Given the description of an element on the screen output the (x, y) to click on. 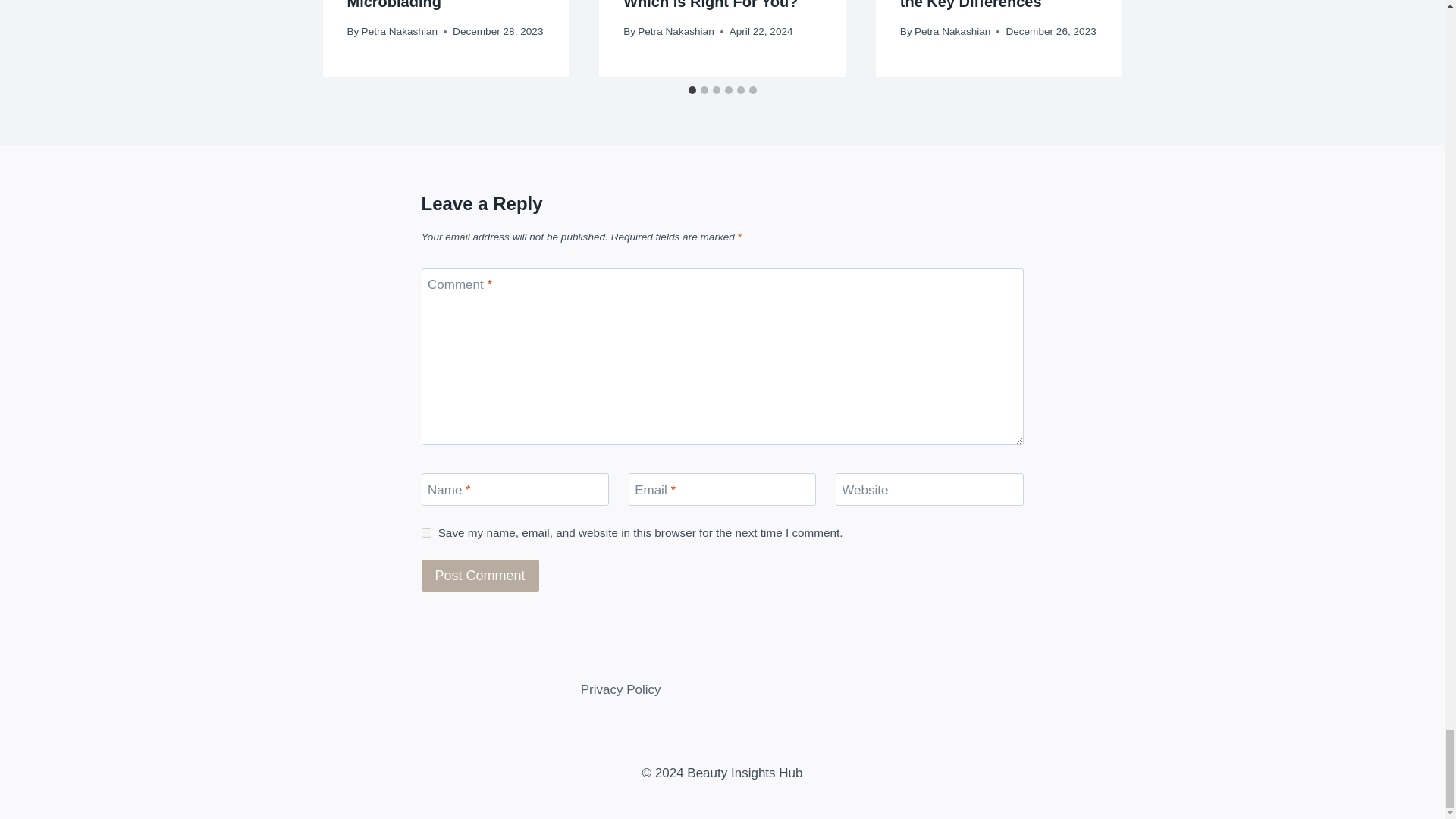
A Closer Look at Combination Brows vs Microblading (429, 4)
Petra Nakashian (399, 30)
Post Comment (480, 575)
yes (426, 532)
